Given the description of an element on the screen output the (x, y) to click on. 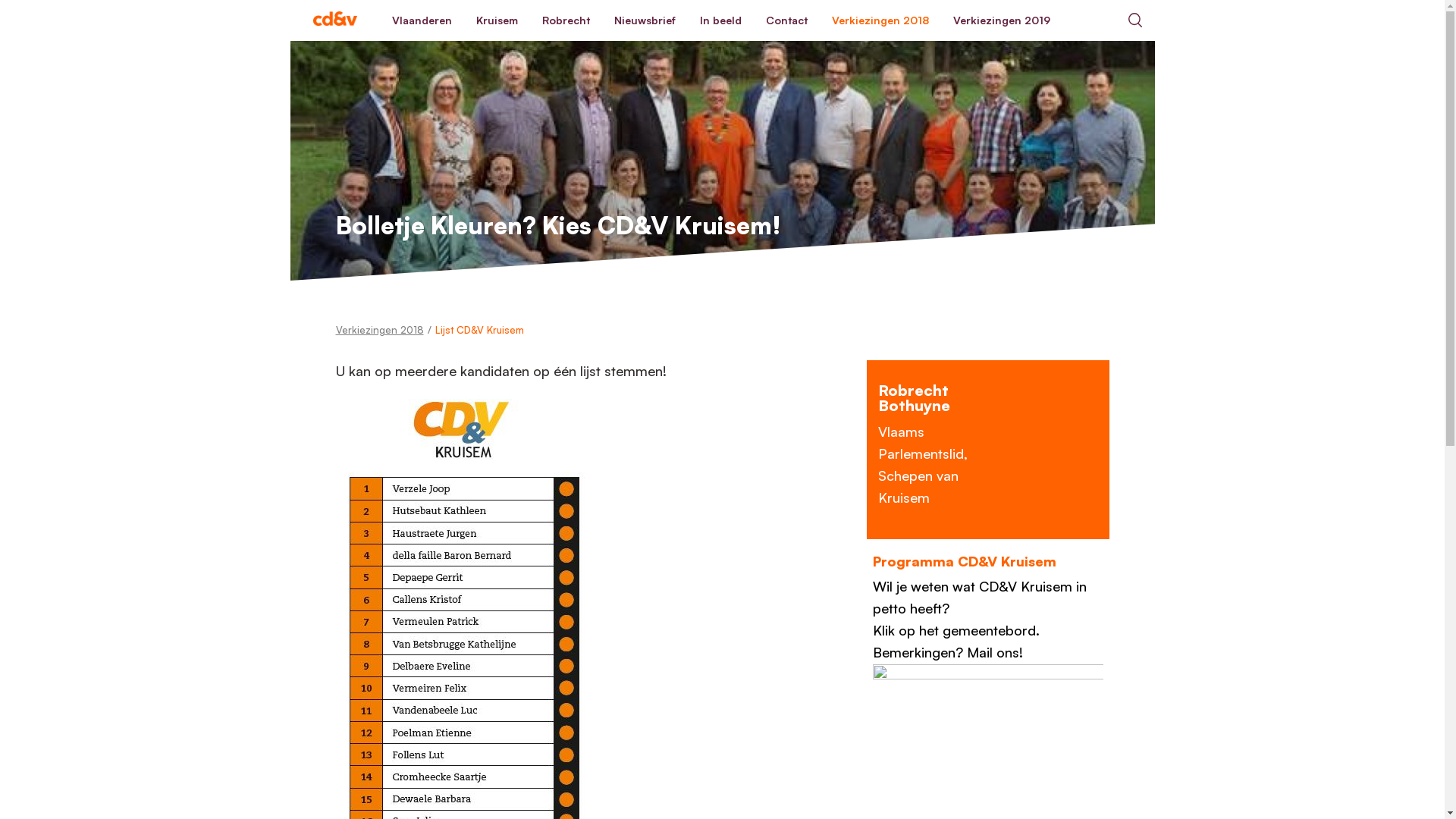
Vlaanderen Element type: text (421, 20)
Kruisem Element type: text (497, 20)
Nieuwsbrief Element type: text (644, 20)
Contact Element type: text (786, 20)
Verkiezingen 2018 Element type: text (379, 329)
Search Element type: hover (1134, 19)
Verkiezingen 2019 Element type: text (1000, 20)
Robrecht Bothuyne
Vlaams Parlementslid, Schepen van Kruisem Element type: text (987, 449)
Verkiezingen 2018 Element type: text (879, 20)
In beeld Element type: text (720, 20)
Robrecht Element type: text (565, 20)
